Given the description of an element on the screen output the (x, y) to click on. 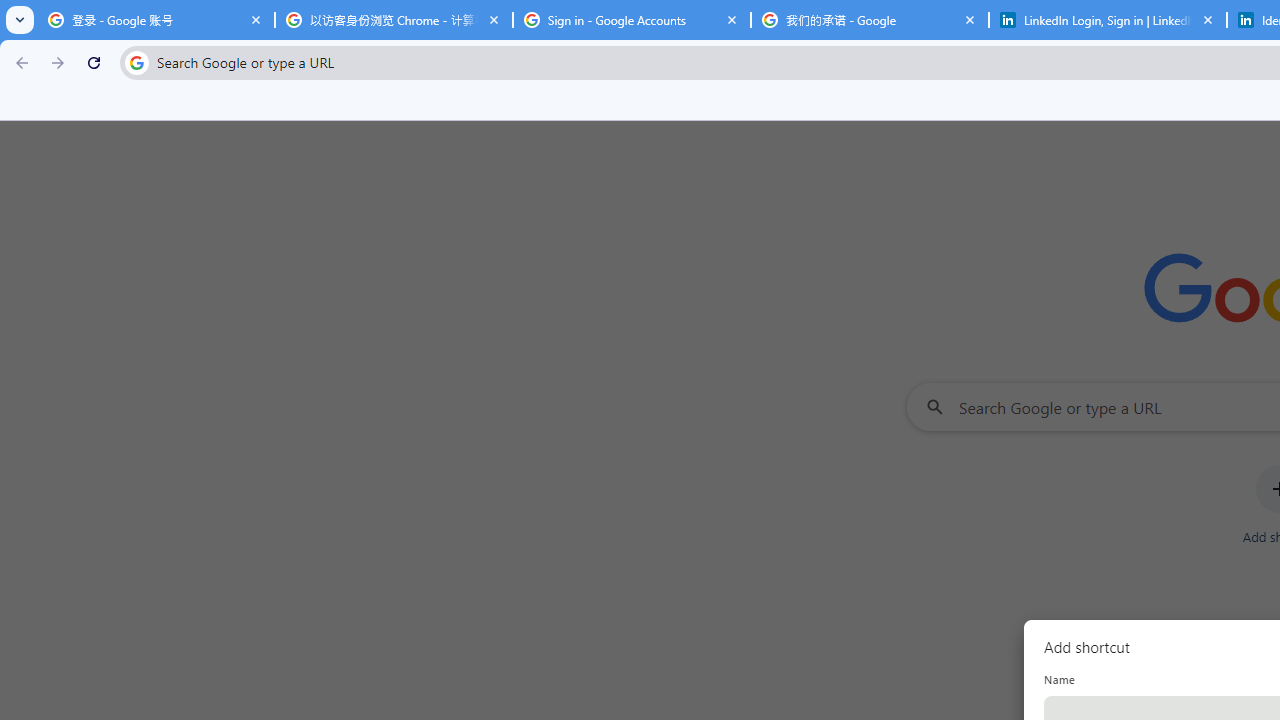
Sign in - Google Accounts (632, 20)
LinkedIn Login, Sign in | LinkedIn (1108, 20)
